Given the description of an element on the screen output the (x, y) to click on. 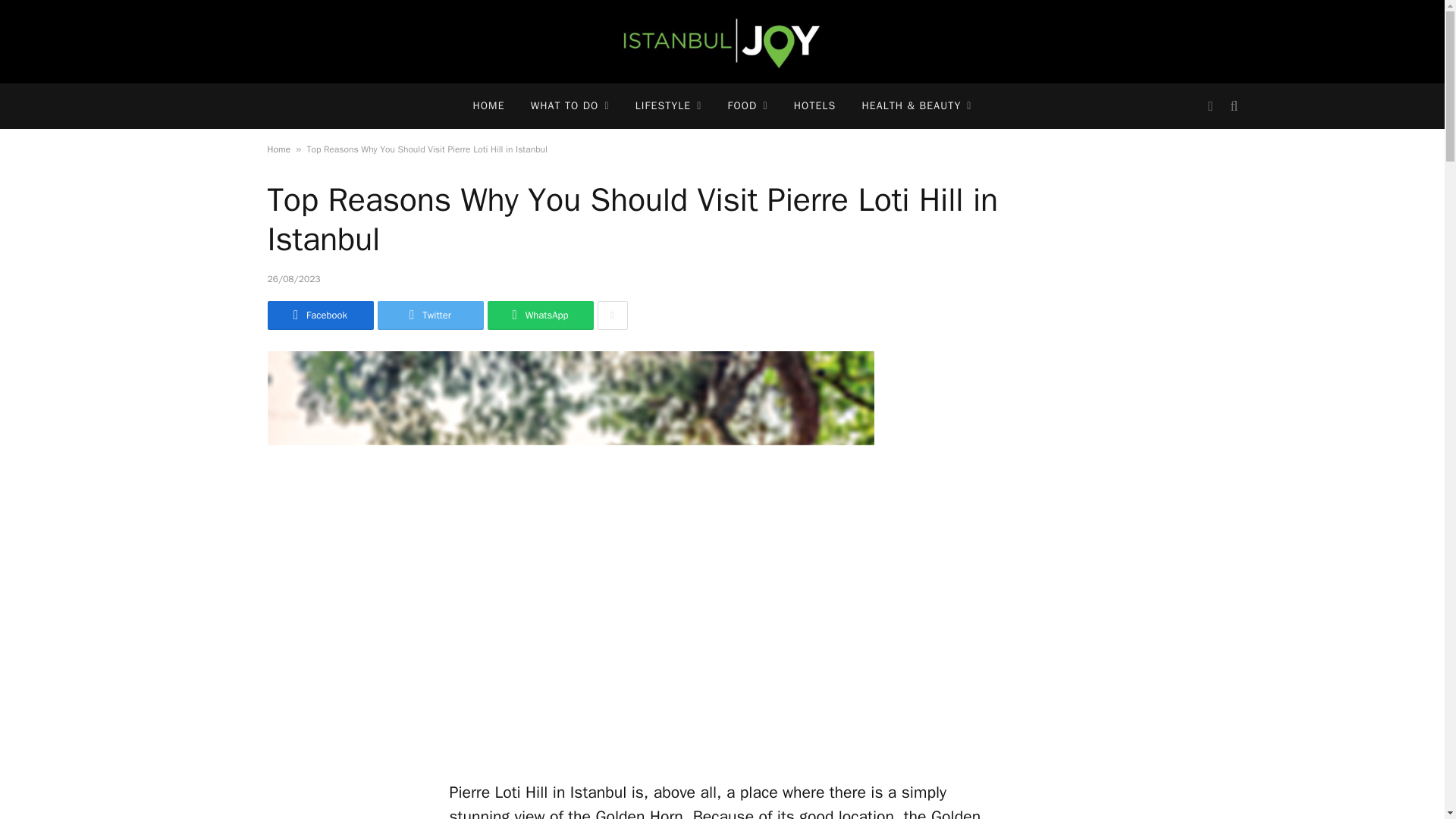
IstanbulJoy (721, 41)
FOOD (747, 105)
HOME (488, 105)
LIFESTYLE (668, 105)
WHAT TO DO (570, 105)
